Given the description of an element on the screen output the (x, y) to click on. 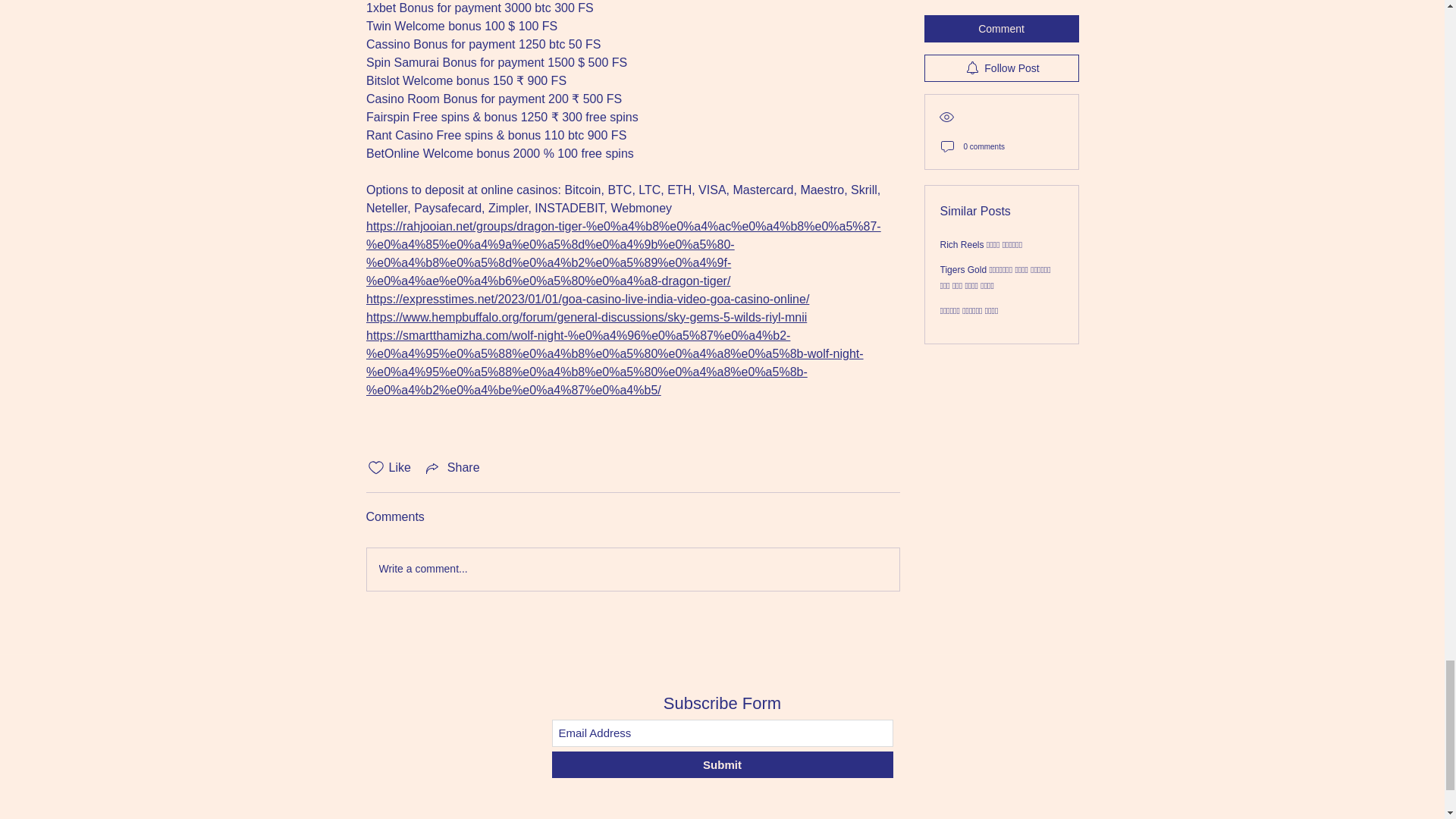
Write a comment... (632, 568)
Share (451, 467)
Submit (722, 764)
